Given the description of an element on the screen output the (x, y) to click on. 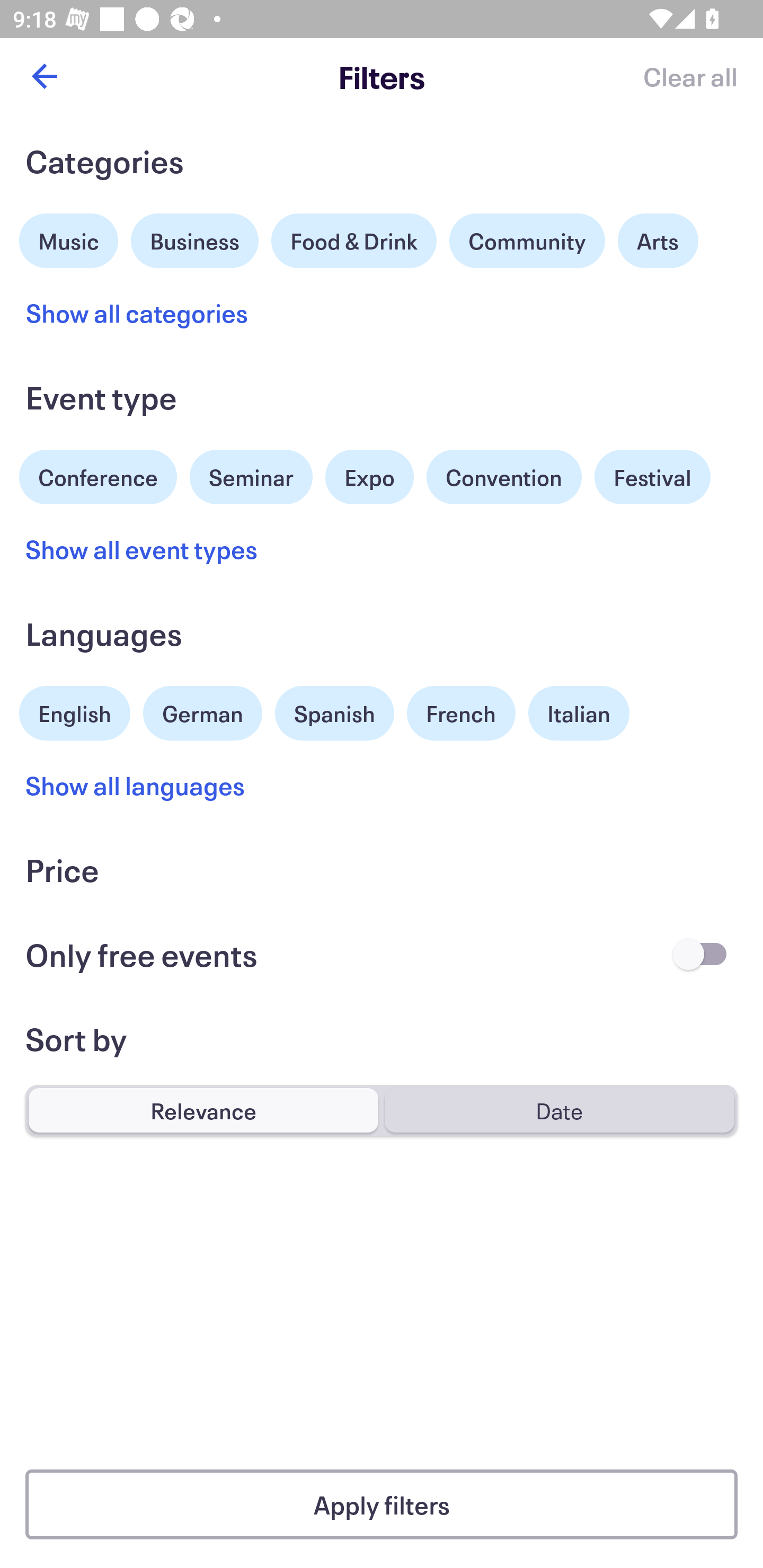
Back button (44, 75)
Clear all (690, 75)
Music (68, 238)
Business (194, 238)
Food & Drink (353, 240)
Community (527, 240)
Arts (658, 240)
Show all categories (136, 312)
Conference (98, 475)
Seminar (250, 477)
Expo (369, 477)
Convention (503, 477)
Festival (652, 477)
Show all event types (141, 548)
English (74, 710)
German (202, 710)
Spanish (334, 713)
French (460, 713)
Italian (578, 713)
Show all languages (135, 784)
Relevance (203, 1109)
Date (559, 1109)
Apply filters (381, 1504)
